Given the description of an element on the screen output the (x, y) to click on. 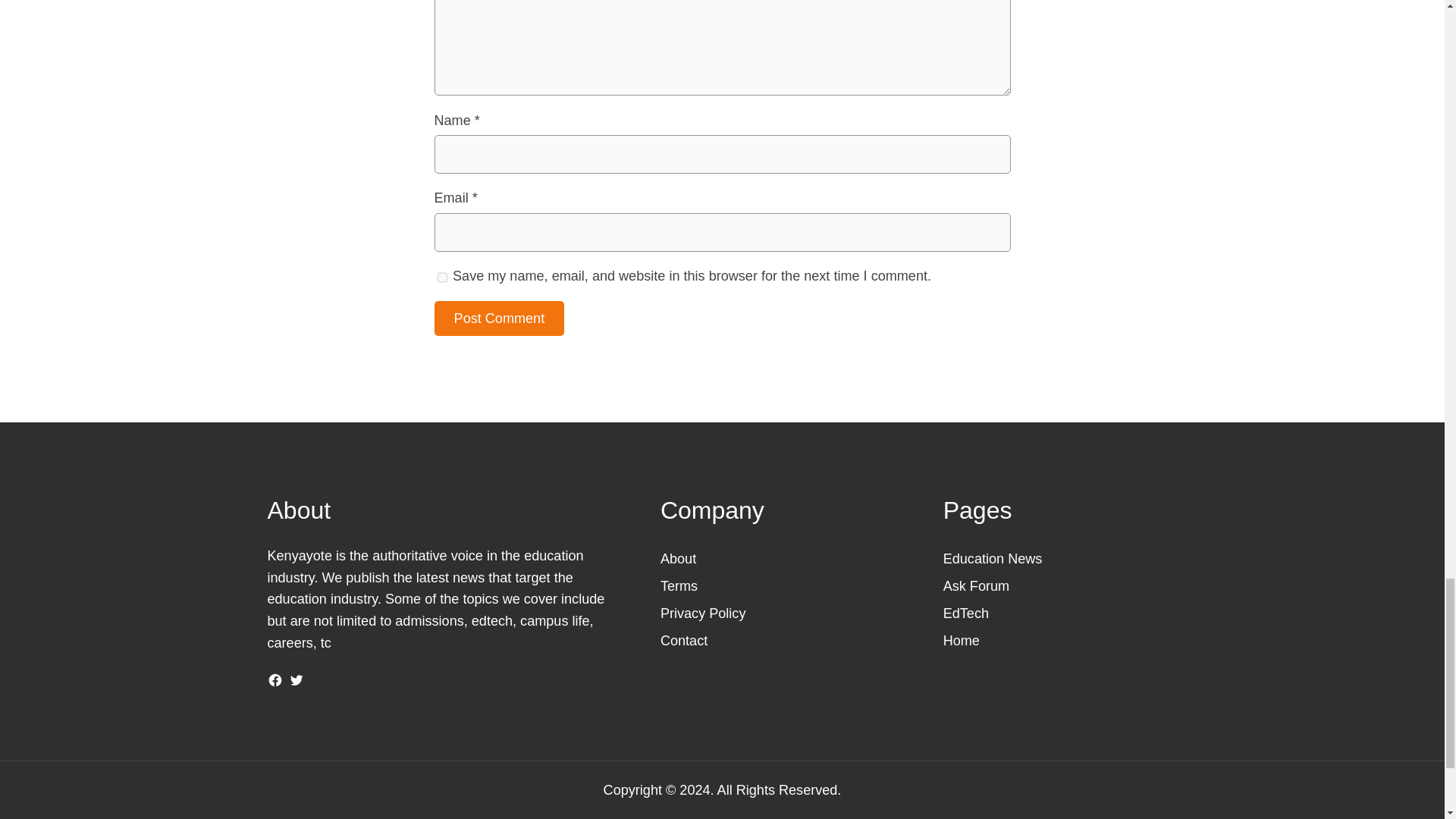
Ask Forum (976, 585)
Post Comment (498, 318)
Home (961, 640)
Education News (992, 558)
Contact (684, 640)
About (678, 558)
Privacy Policy (703, 613)
Post Comment (498, 318)
EdTech (965, 613)
Facebook (274, 679)
